Given the description of an element on the screen output the (x, y) to click on. 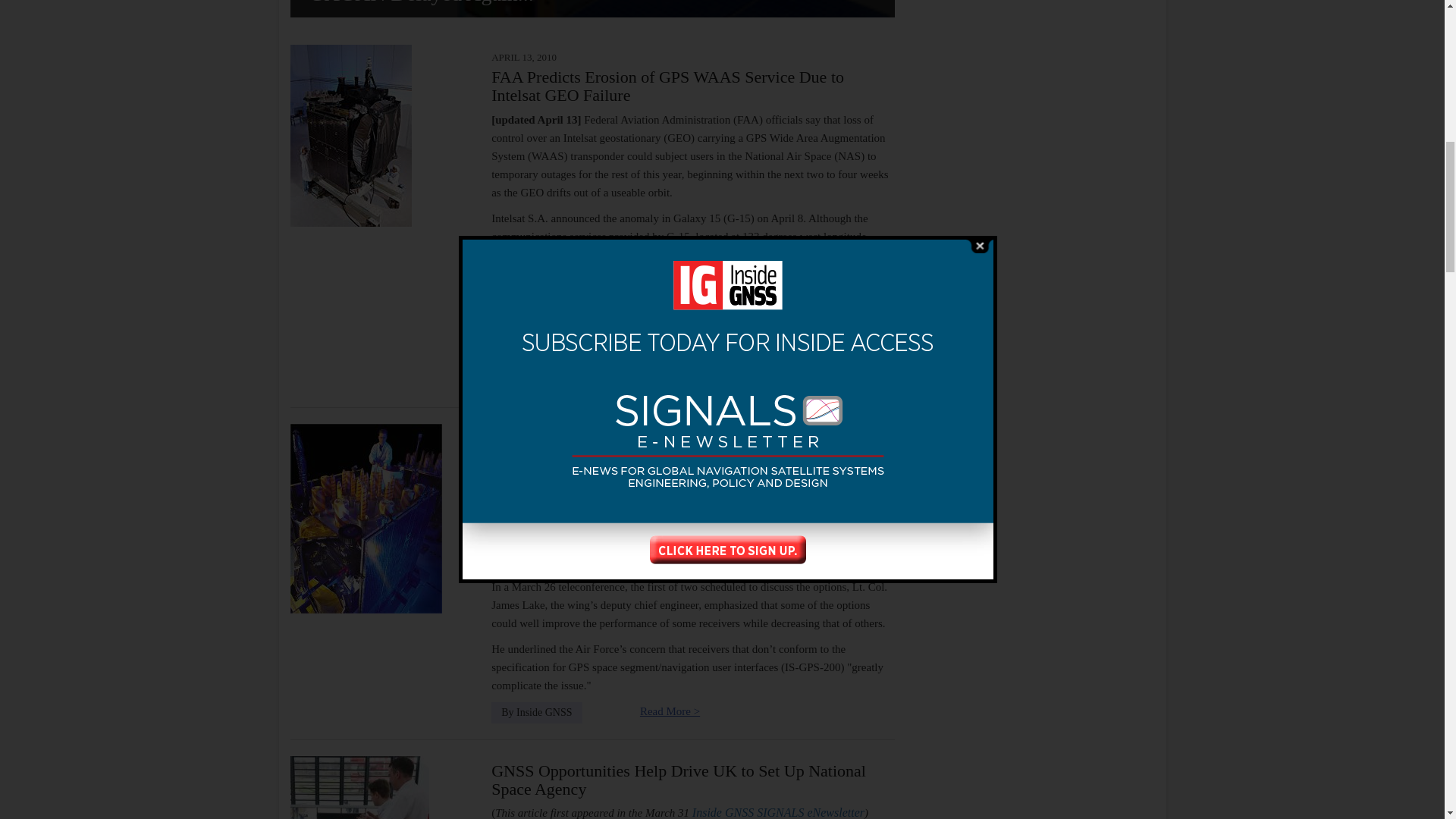
3rd party ad content (1030, 202)
3rd party ad content (1030, 771)
GAGAN Delayed Again (591, 8)
3rd party ad content (1030, 407)
3rd party ad content (1030, 614)
3rd party ad content (1030, 45)
